Given the description of an element on the screen output the (x, y) to click on. 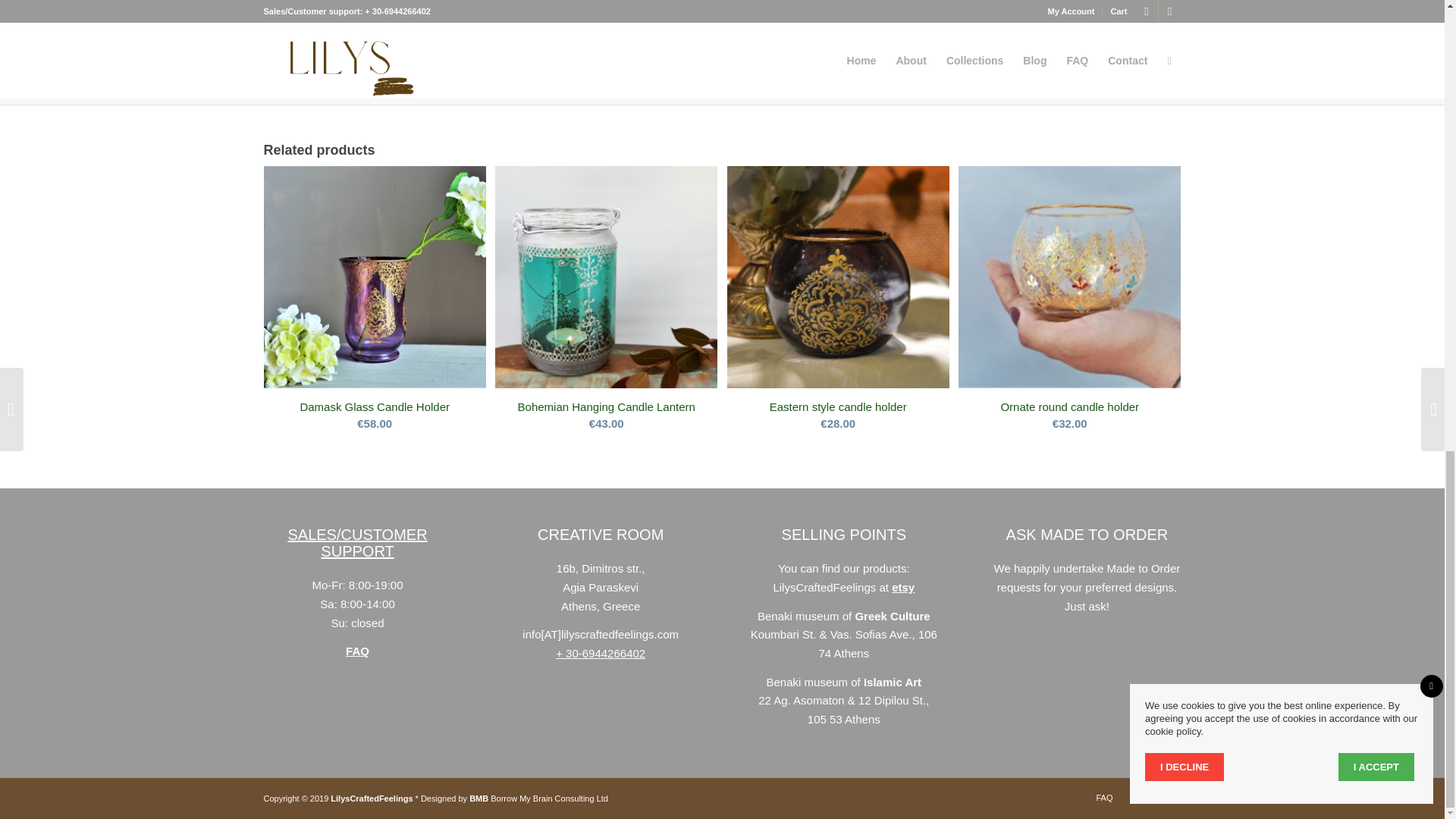
Pinterest (1146, 795)
Instagram (1169, 795)
